Given the description of an element on the screen output the (x, y) to click on. 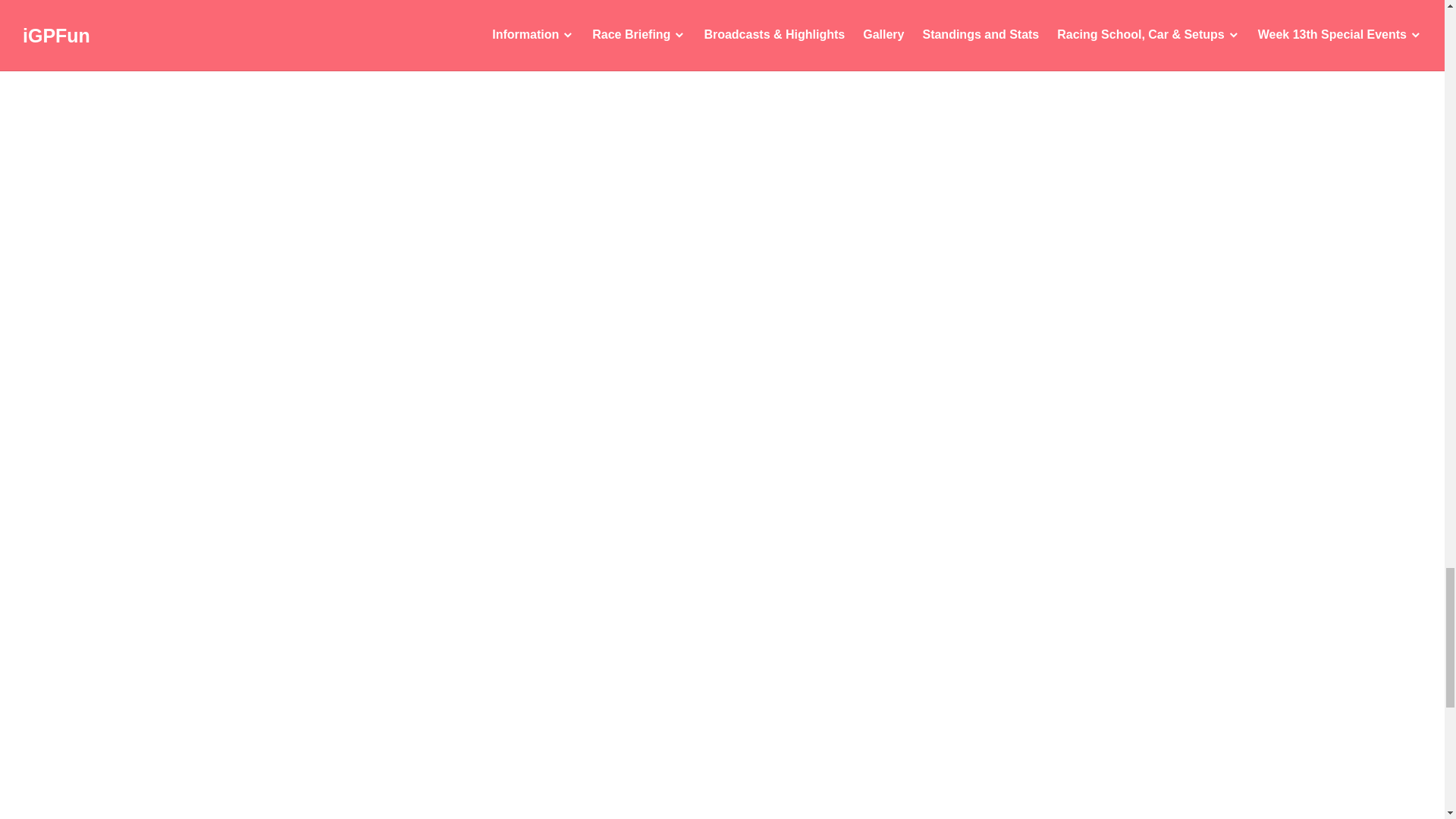
Thomas Randle onboard British F3 Snetterton (600, 98)
Race 2  - Snetterton 2019 - BRDC British F3 Championship (600, 751)
